Given the description of an element on the screen output the (x, y) to click on. 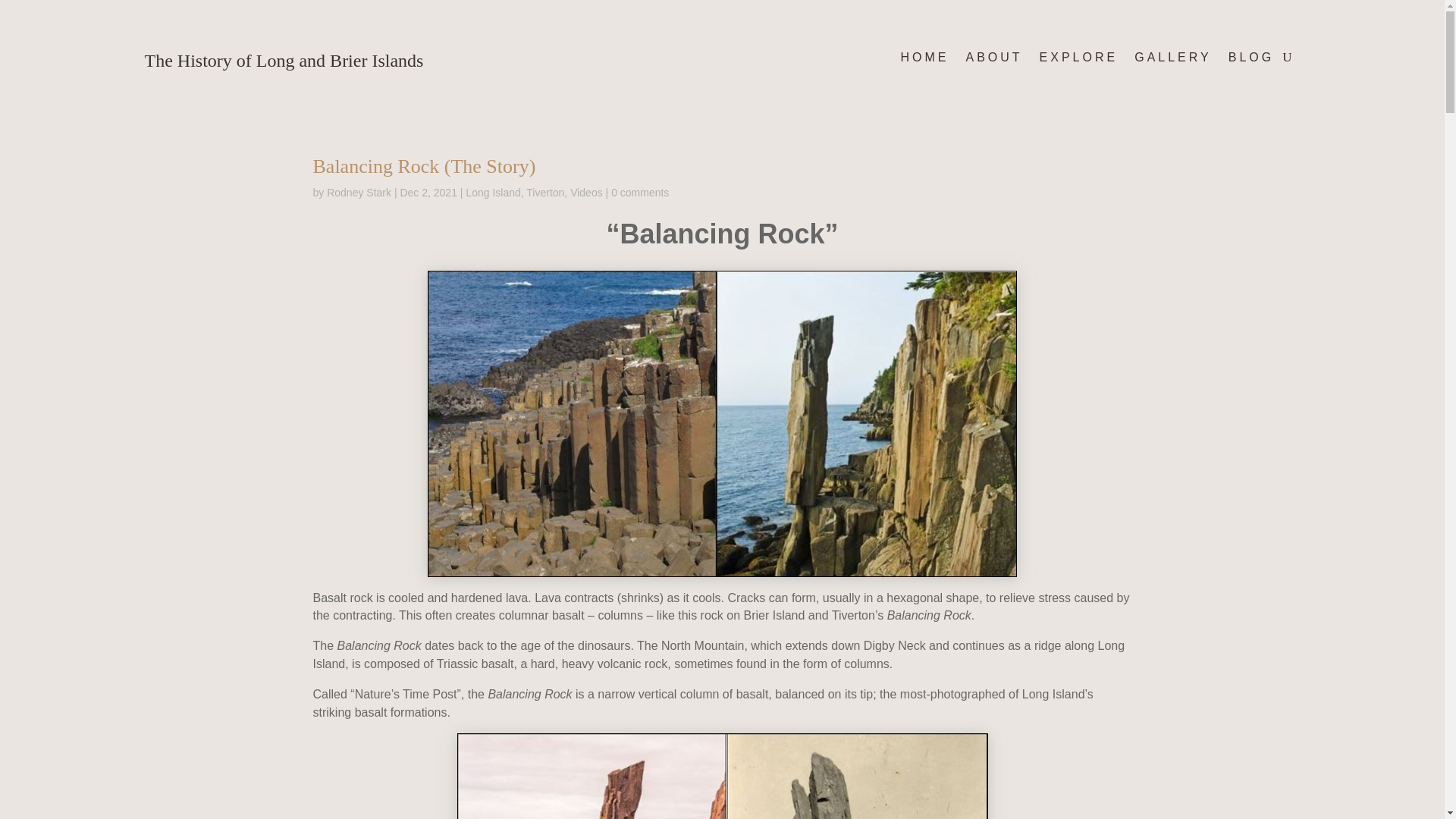
ABOUT (993, 60)
0 comments (639, 192)
BLOG (1251, 60)
GALLERY (1172, 60)
Tiverton (544, 192)
Long Island (492, 192)
Posts by Rodney Stark (358, 192)
Rodney Stark (358, 192)
EXPLORE (1078, 60)
HOME (924, 60)
Videos (586, 192)
